Given the description of an element on the screen output the (x, y) to click on. 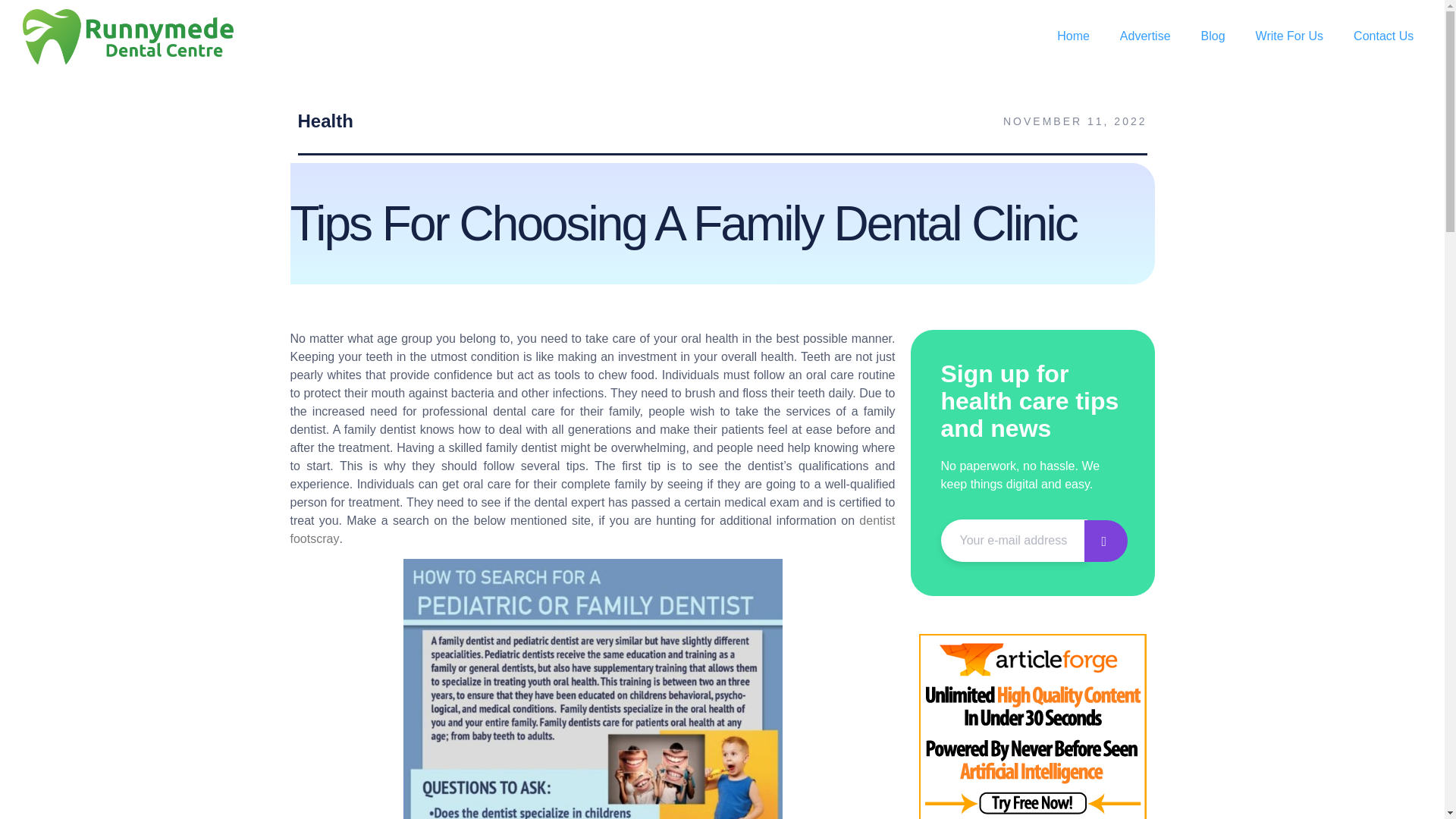
Home (1073, 36)
Contact Us (1383, 36)
Advertise (1145, 36)
dentist footscray (592, 529)
Blog (1213, 36)
Write For Us (1289, 36)
